Given the description of an element on the screen output the (x, y) to click on. 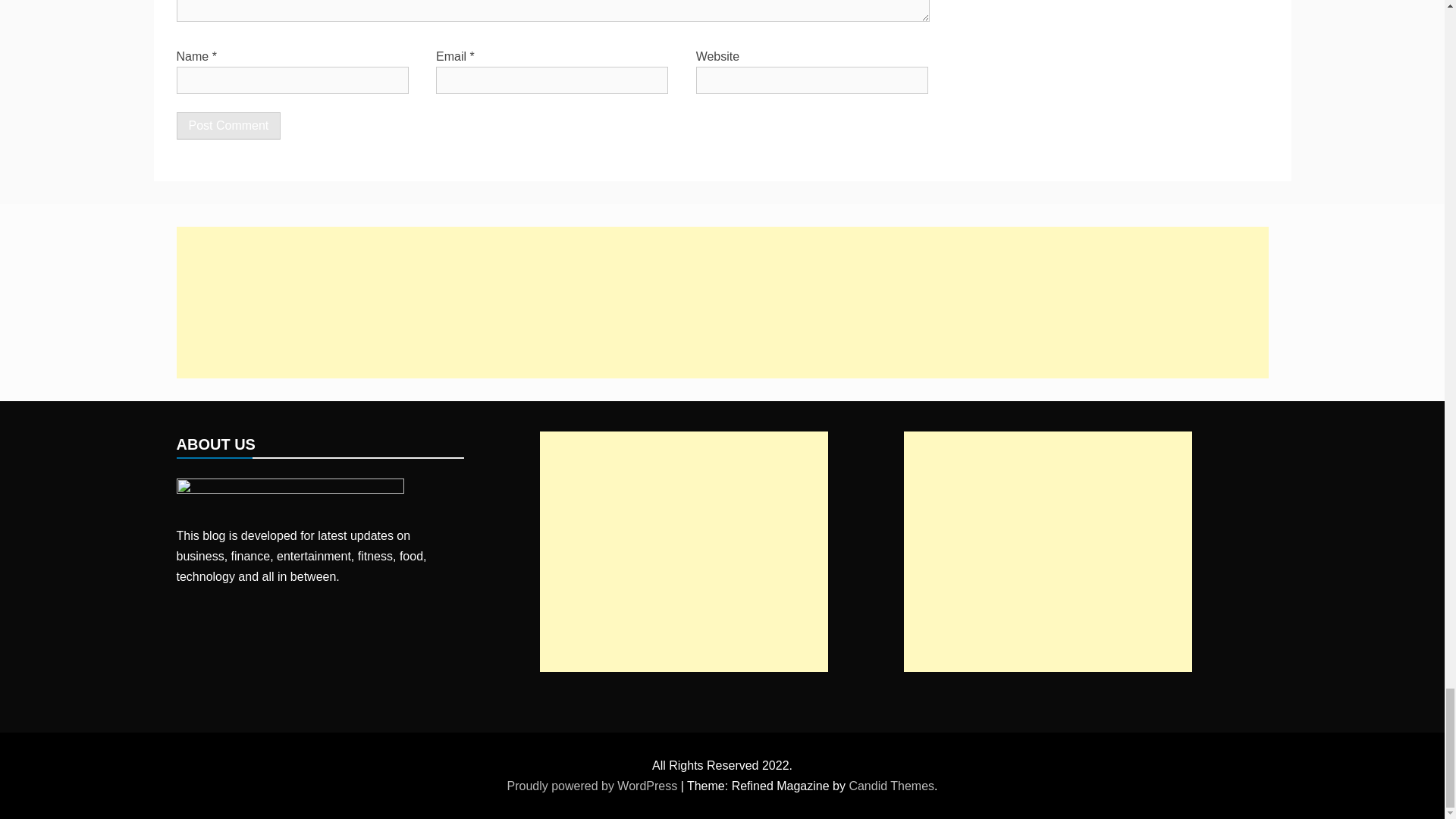
Post Comment (228, 125)
